Given the description of an element on the screen output the (x, y) to click on. 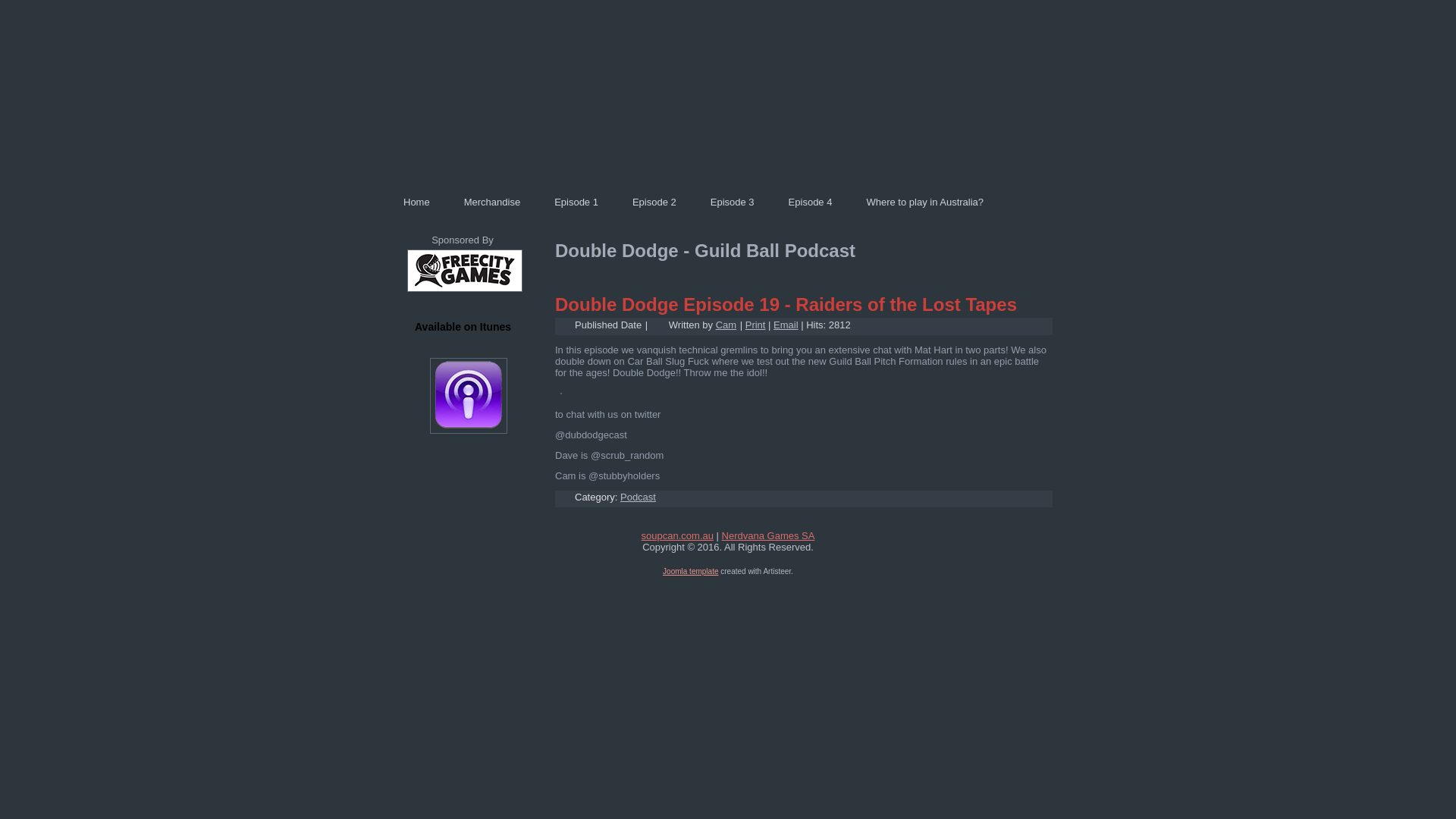
Podcast Element type: text (637, 496)
Episode 1 Element type: text (576, 202)
Print Element type: text (755, 324)
Home Element type: text (416, 202)
soupcan.com.au Element type: text (677, 535)
Joomla template Element type: text (690, 571)
Merchandise Element type: text (491, 202)
Double Dodge Episode 19 - Raiders of the Lost Tapes Element type: text (785, 304)
Free City Games Element type: hover (464, 292)
Itunes Double Dodge Podcast Element type: hover (462, 395)
Cam Element type: text (725, 324)
Episode 3 Element type: text (732, 202)
Nerdvana Games SA Element type: text (768, 535)
Where to play in Australia? Element type: text (924, 202)
Episode 2 Element type: text (654, 202)
Episode 4 Element type: text (810, 202)
Email Element type: text (785, 324)
